Given the description of an element on the screen output the (x, y) to click on. 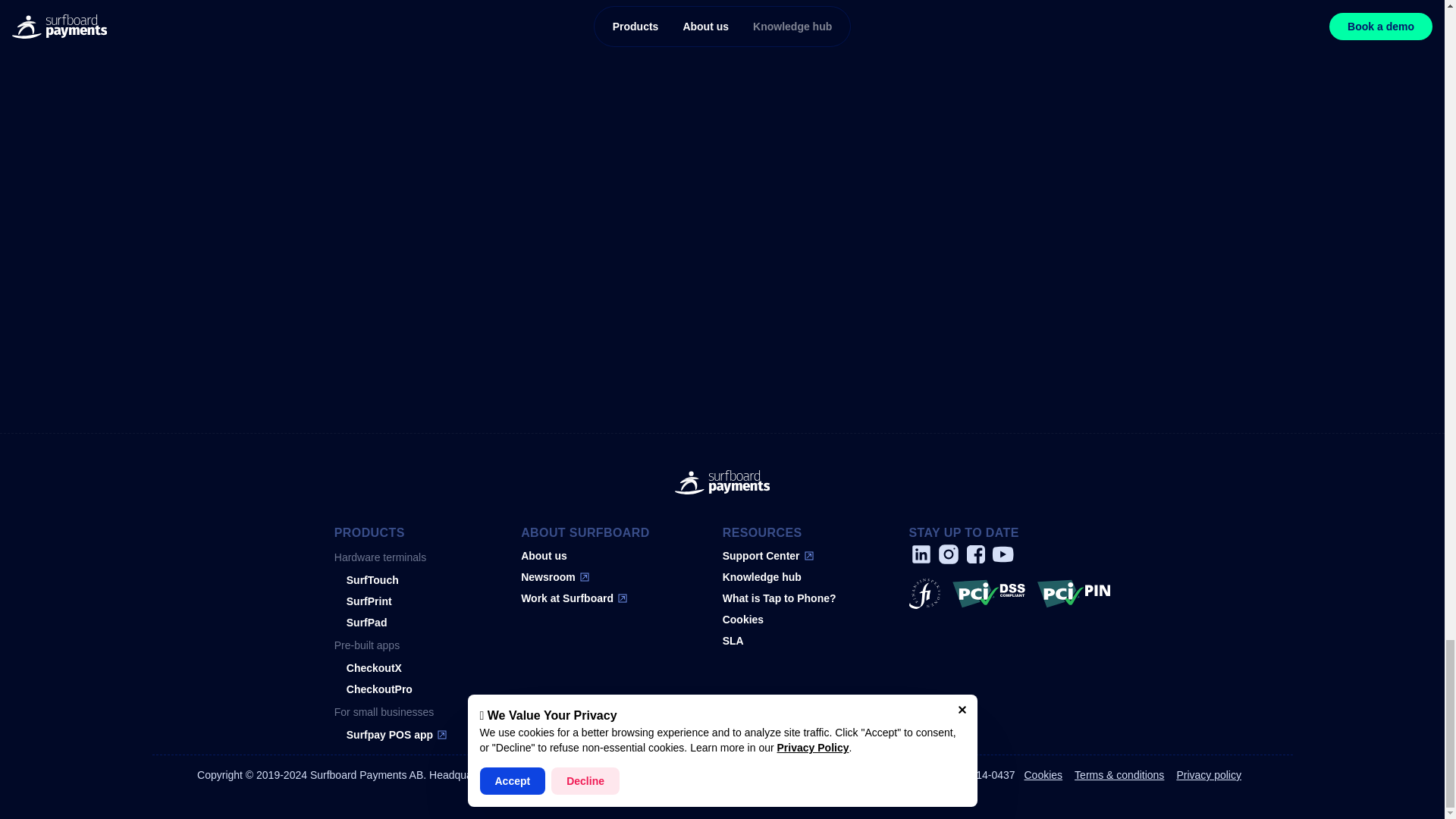
SurfTouch (391, 580)
